Given the description of an element on the screen output the (x, y) to click on. 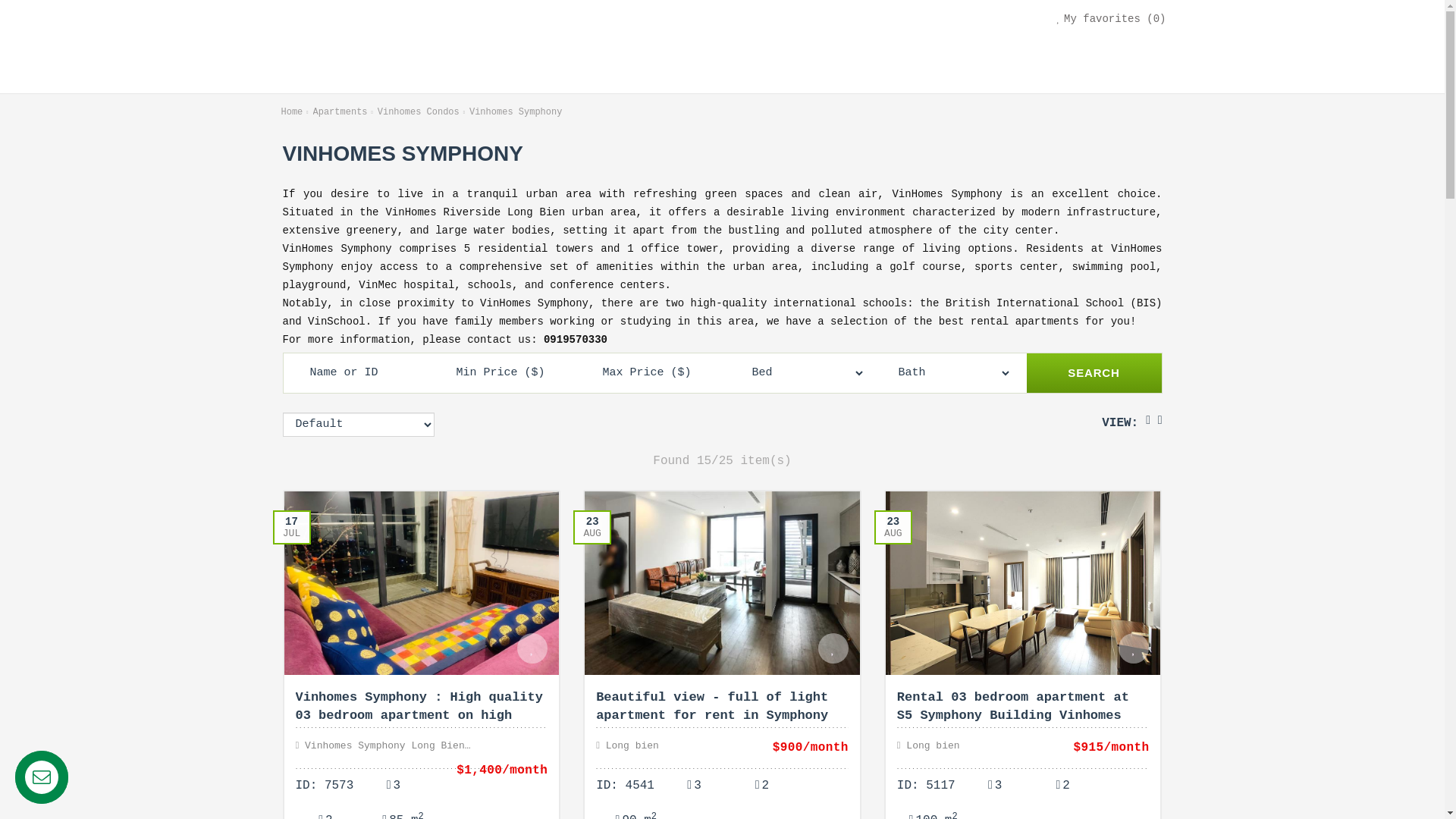
Latest update (292, 527)
Living Area (625, 811)
Bathroom (948, 372)
Vinhomes Condos (420, 112)
Living Area (392, 811)
Bedroom (392, 786)
Shower (325, 811)
Bedroom (694, 786)
Sort by (357, 424)
Vinhomes Symphony (515, 112)
Home (294, 112)
Add to my wishlist (833, 648)
Latest update (893, 527)
Add to my wishlist (531, 648)
Shower (762, 786)
